Given the description of an element on the screen output the (x, y) to click on. 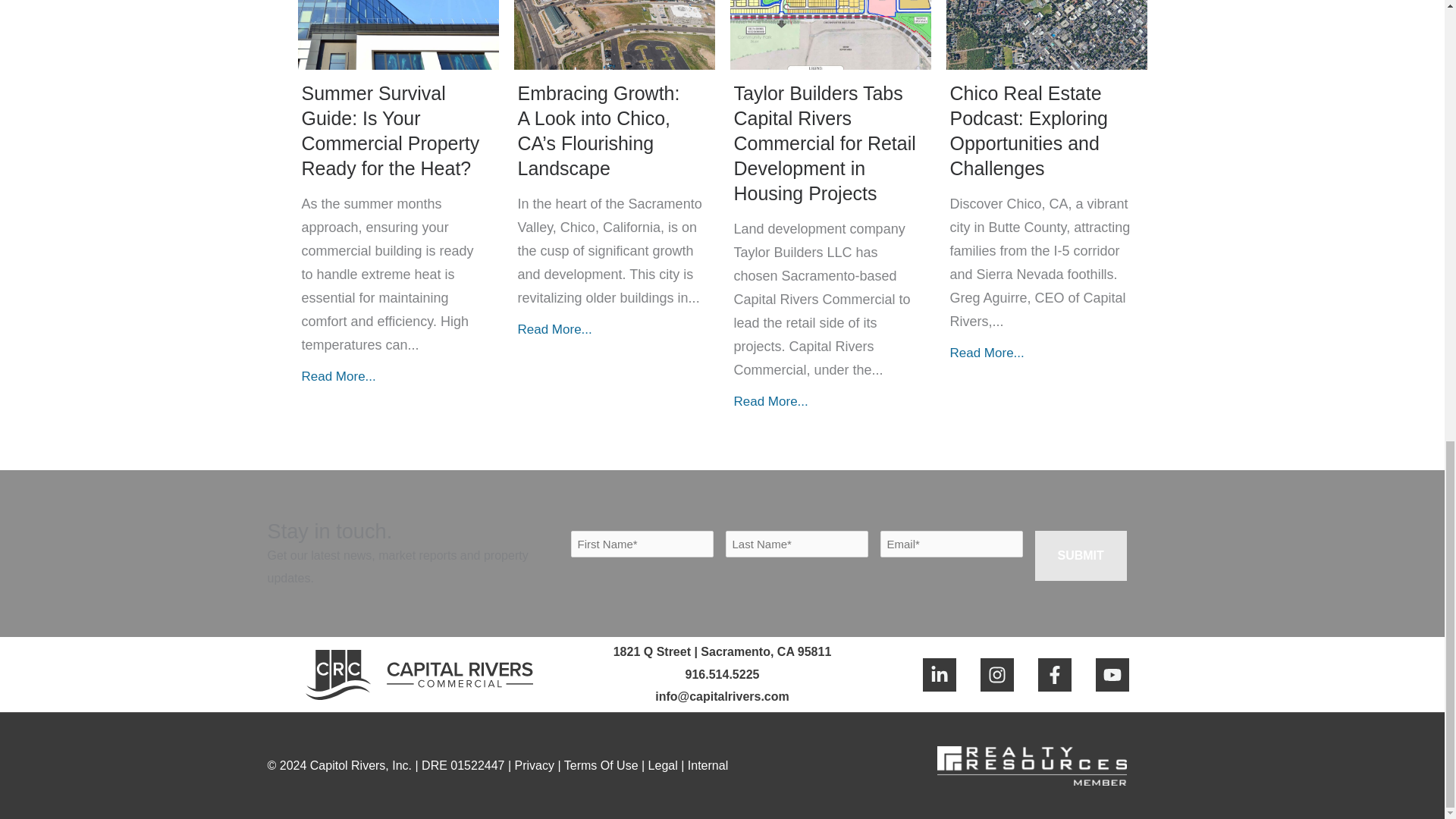
Submit (1079, 555)
